Given the description of an element on the screen output the (x, y) to click on. 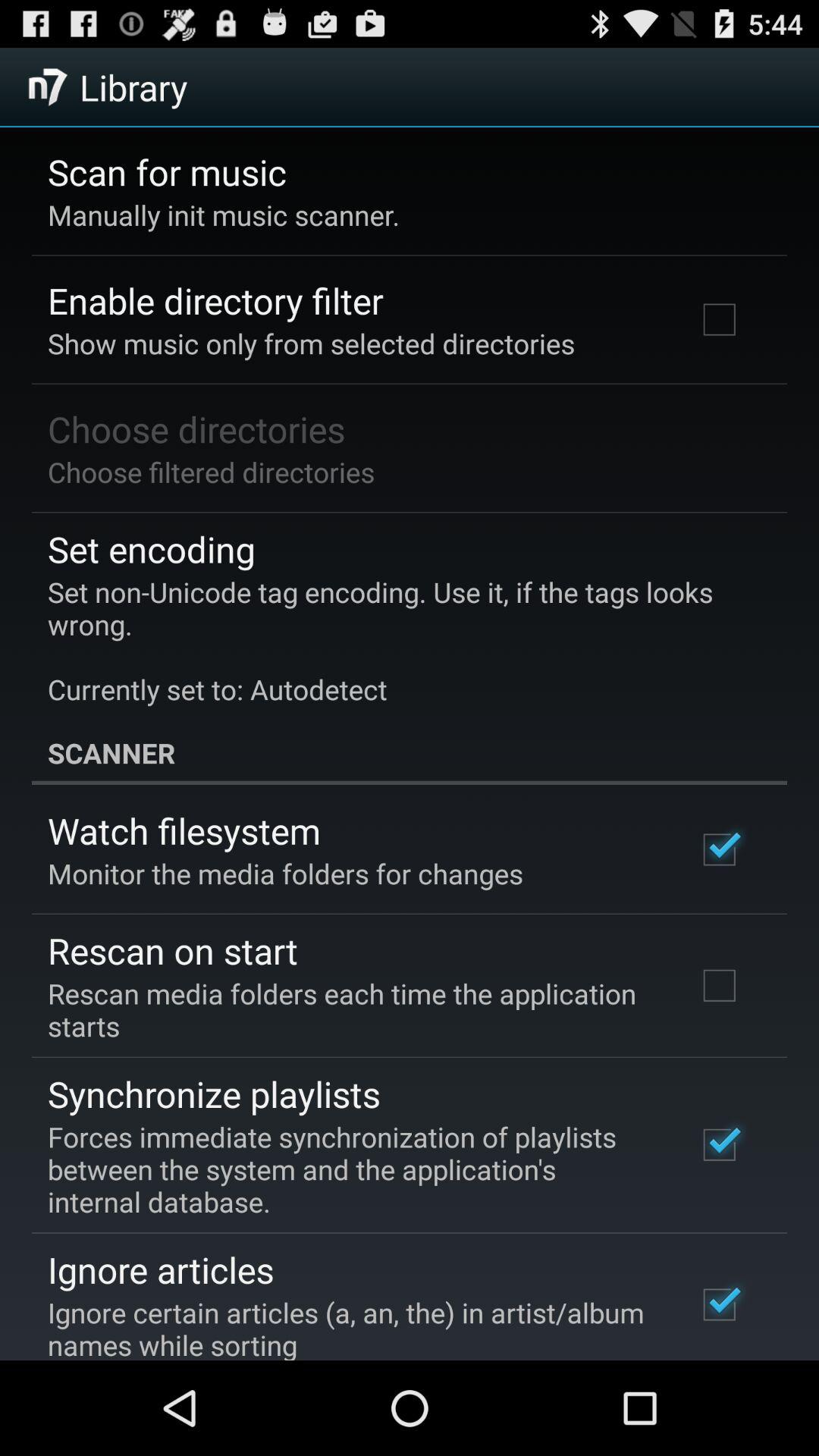
swipe until set non unicode (399, 640)
